Given the description of an element on the screen output the (x, y) to click on. 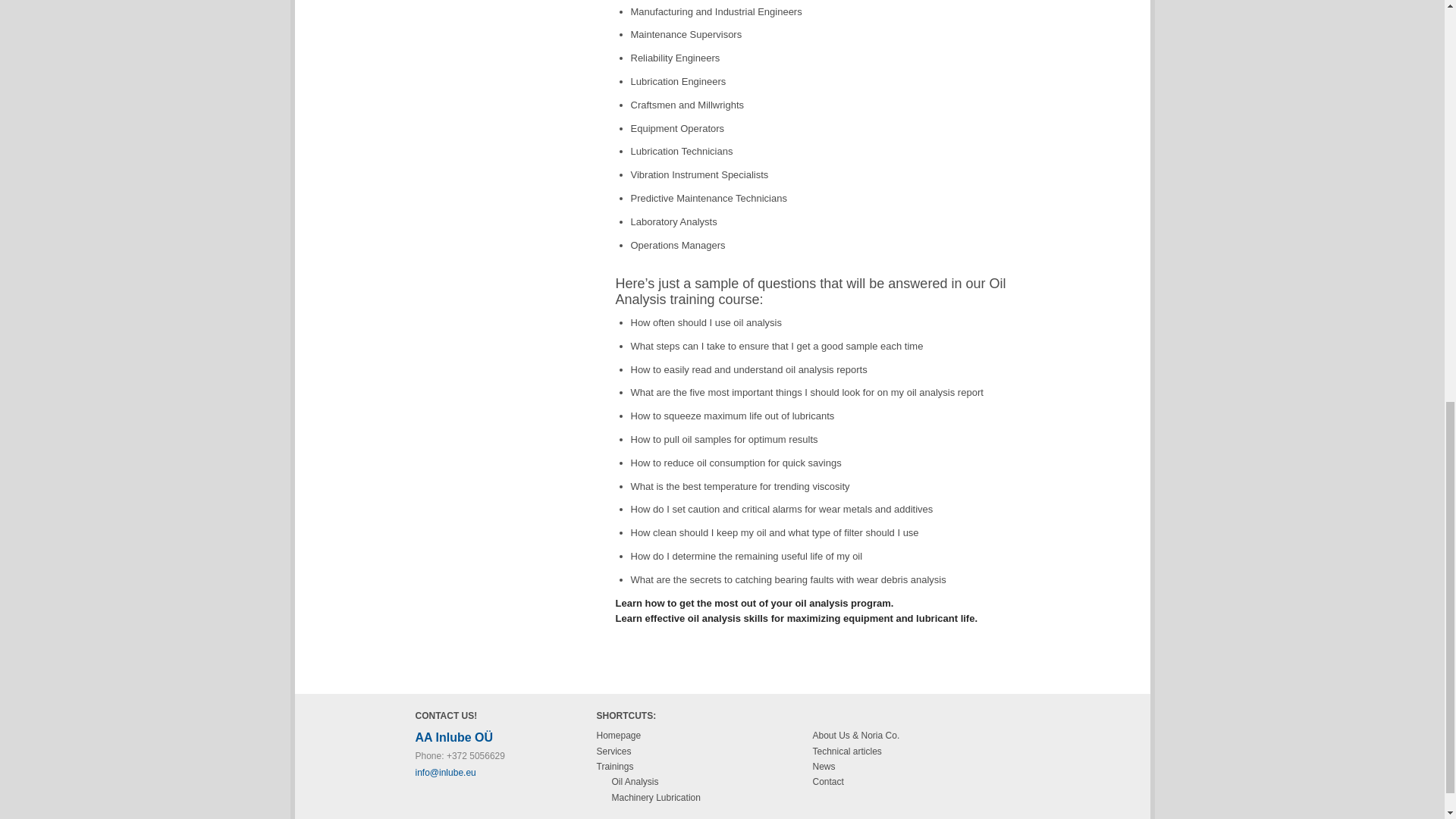
Contact (828, 781)
Trainings (614, 766)
Services (612, 751)
Machinery Lubrication (655, 797)
Technical articles (847, 751)
News (823, 766)
Oil Analysis (634, 781)
Homepage (617, 735)
